Given the description of an element on the screen output the (x, y) to click on. 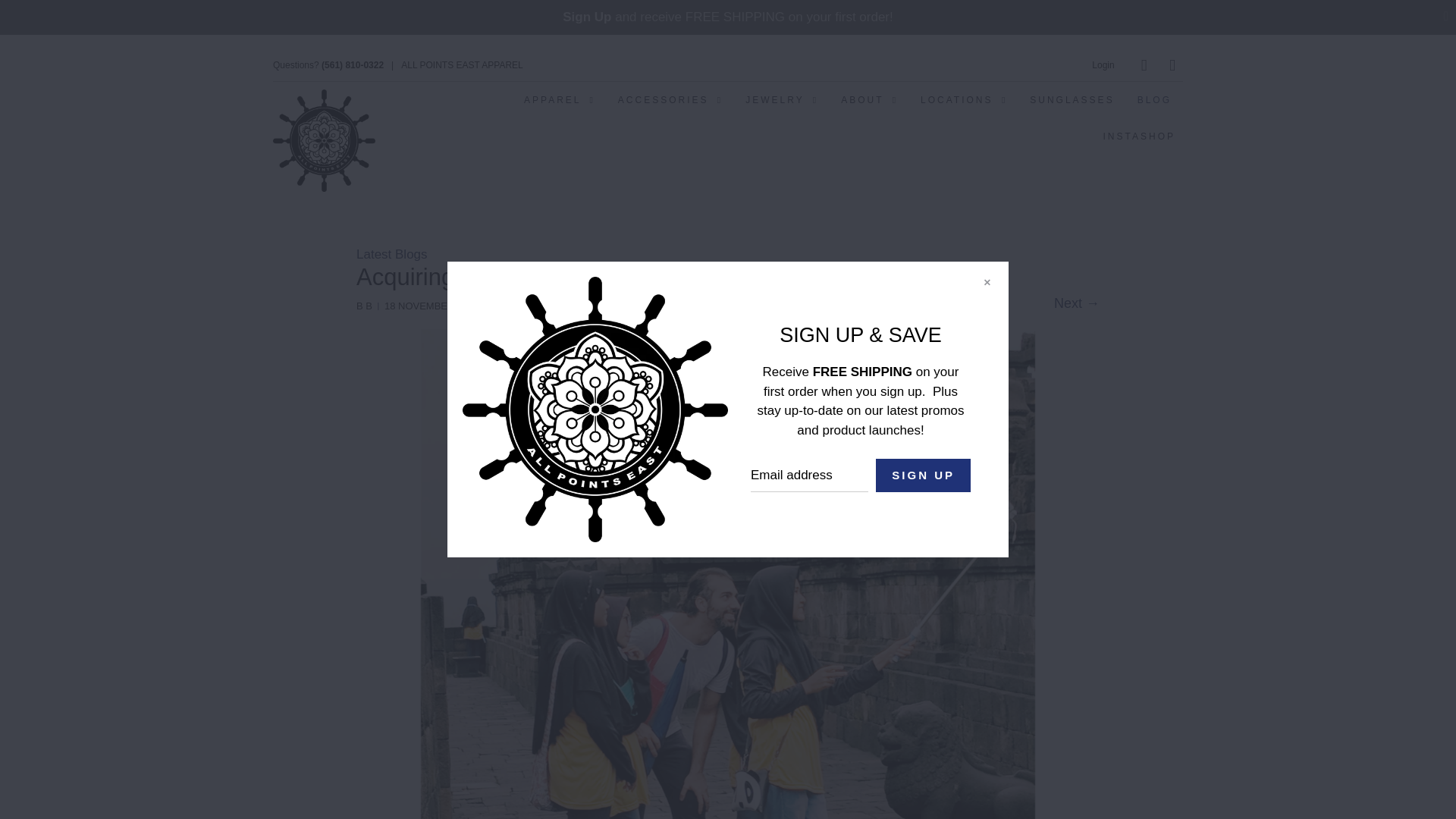
LOCATIONS (963, 99)
JEWELRY (781, 99)
BLOG (1154, 99)
SUNGLASSES (1071, 99)
Latest Blogs (392, 254)
APPAREL (559, 99)
ABOUT (868, 99)
Sign Up (923, 475)
Sign Up (586, 16)
ACCESSORIES (670, 99)
My Account  (1102, 64)
Login (1102, 64)
INSTASHOP (1139, 135)
